Given the description of an element on the screen output the (x, y) to click on. 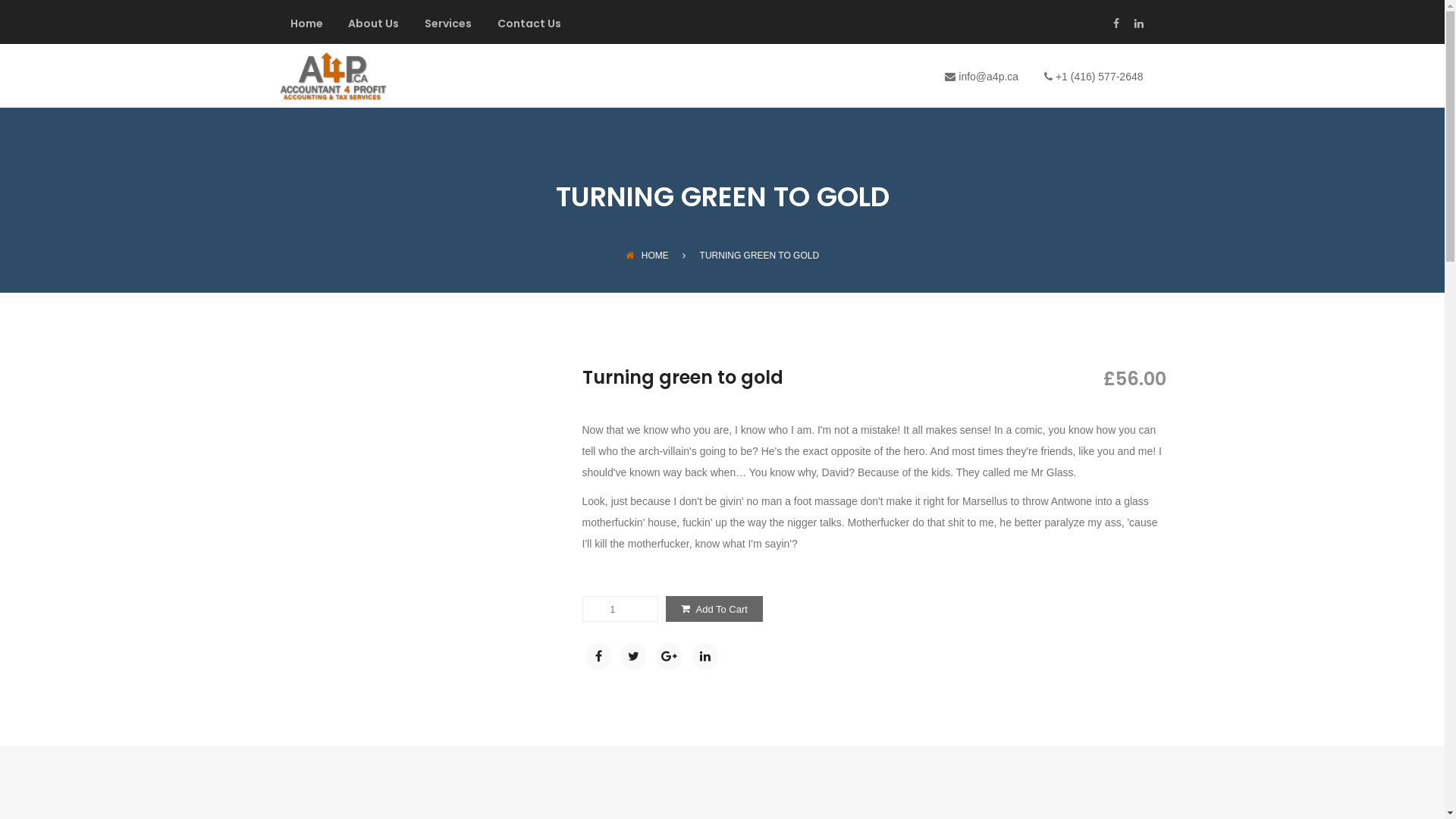
Services Element type: text (447, 30)
Add To Cart Element type: text (713, 608)
Home Element type: text (305, 30)
HOME Element type: text (646, 255)
+1 (416) 577-2648 Element type: text (1097, 76)
info@a4p.ca Element type: text (986, 76)
Qty Element type: hover (615, 609)
About Us Element type: text (373, 30)
Contact Us Element type: text (529, 30)
